Given the description of an element on the screen output the (x, y) to click on. 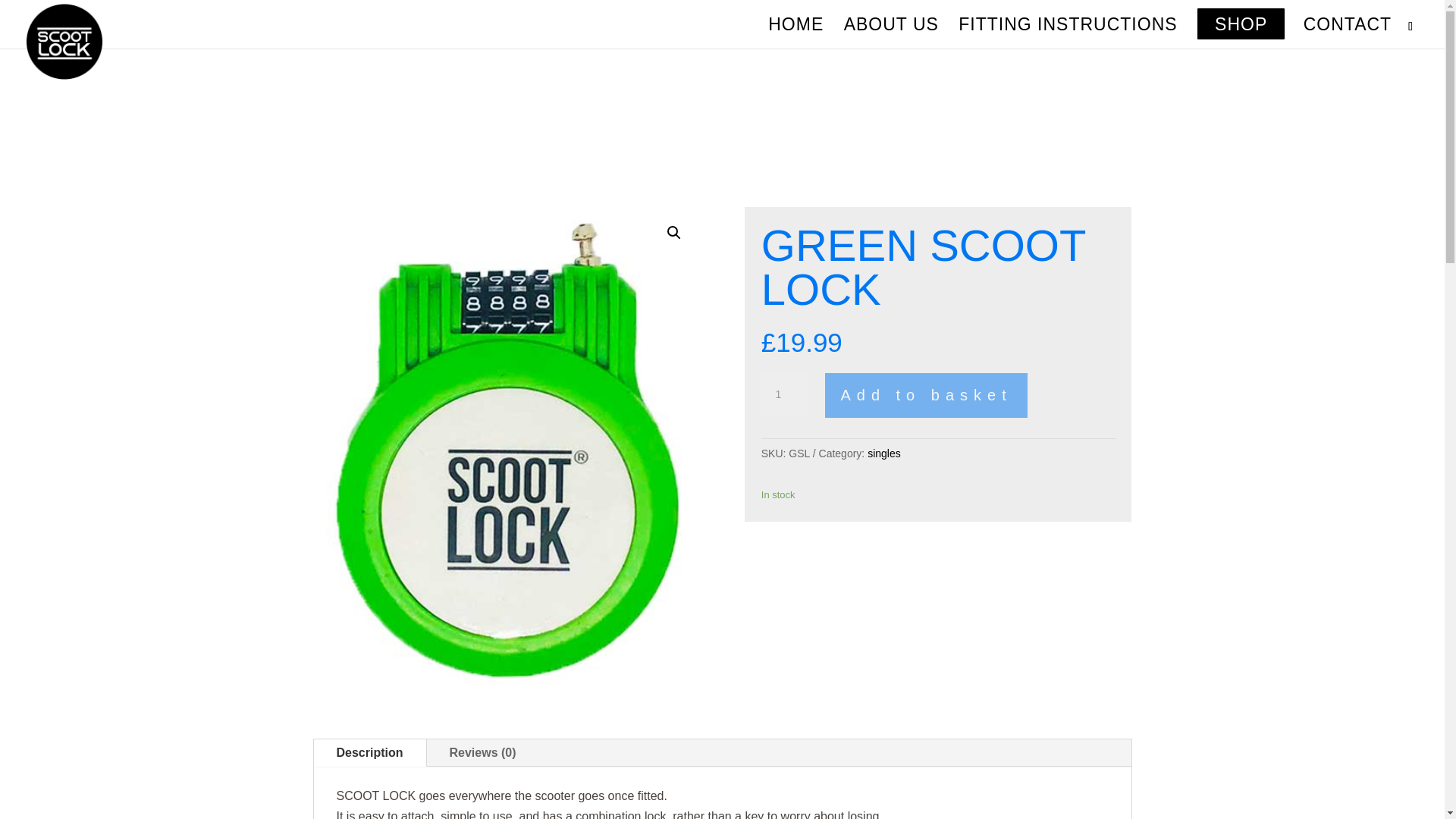
CONTACT (1347, 33)
SHOP (1240, 33)
1 (783, 394)
singles (884, 453)
Add to basket (925, 395)
FITTING INSTRUCTIONS (1067, 33)
ABOUT US (891, 33)
Description (370, 752)
HOME (796, 33)
